Given the description of an element on the screen output the (x, y) to click on. 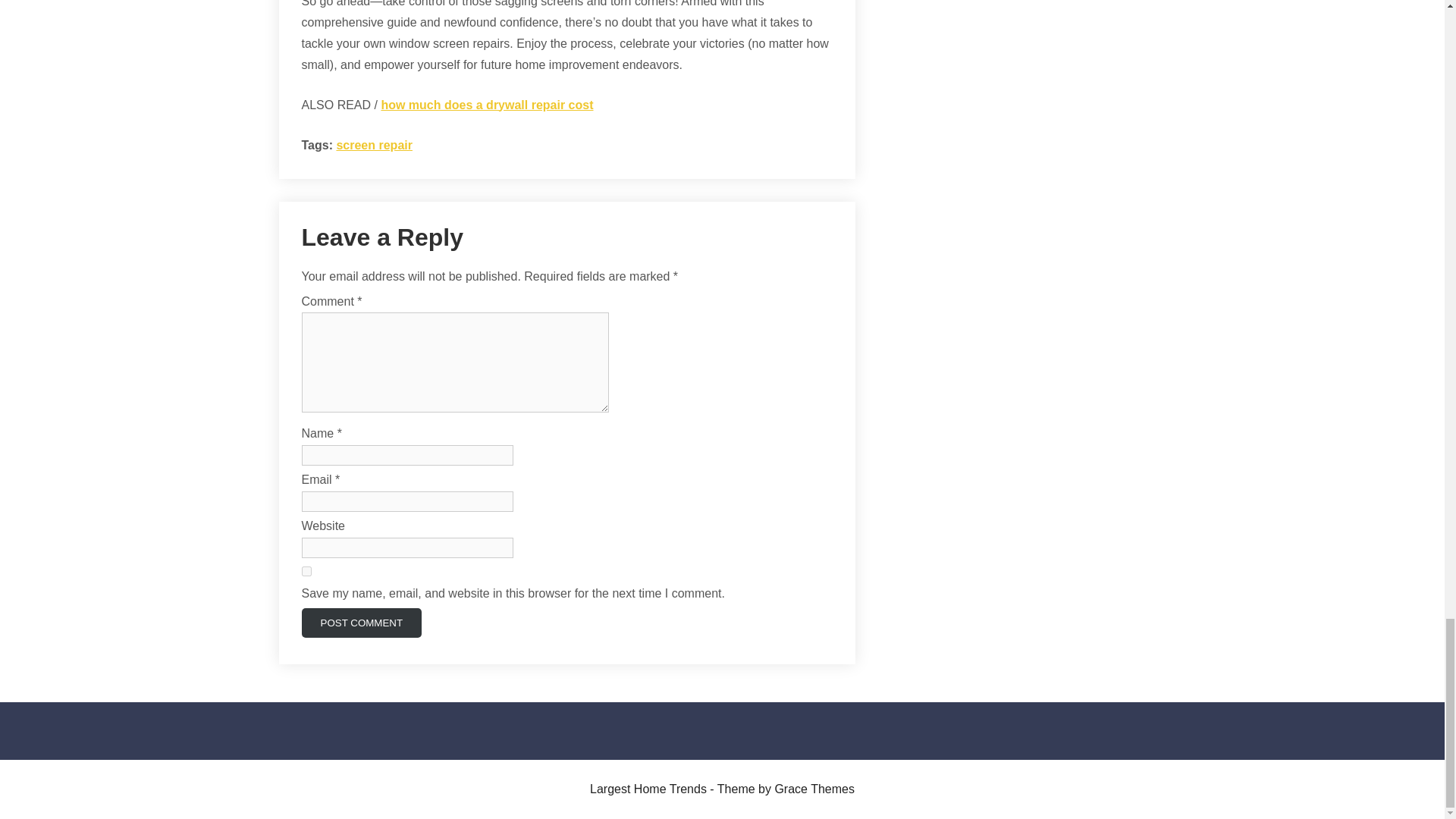
how much does a drywall repair cost (486, 104)
screen repair (374, 144)
yes (306, 571)
Post Comment (361, 623)
Post Comment (361, 623)
